Given the description of an element on the screen output the (x, y) to click on. 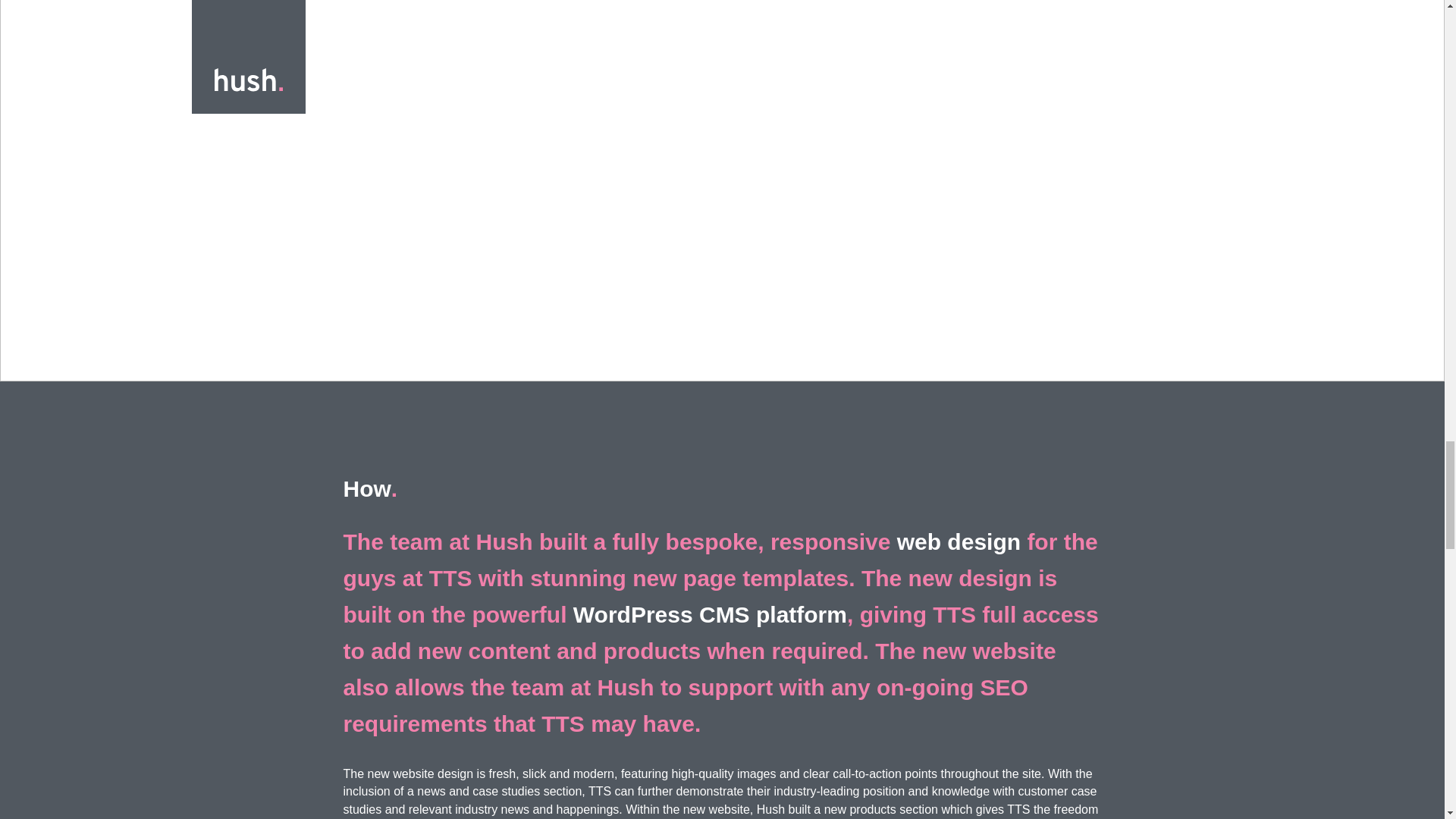
web design (958, 541)
WordPress CMS platform (710, 614)
